Given the description of an element on the screen output the (x, y) to click on. 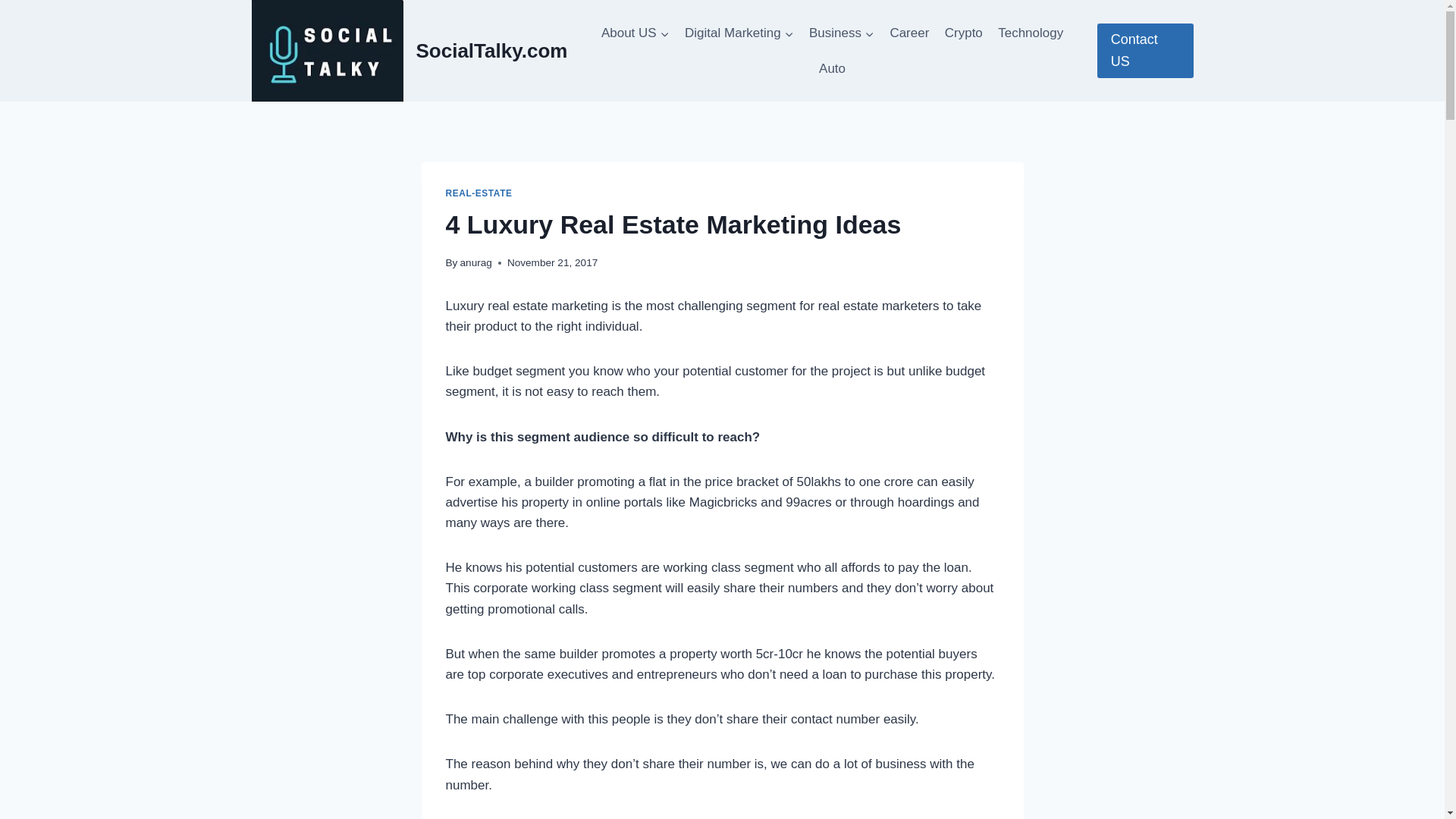
Digital Marketing (739, 33)
REAL-ESTATE (478, 193)
SocialTalky.com (409, 50)
Business (842, 33)
About US (635, 33)
Auto (831, 68)
Technology (1030, 33)
Career (909, 33)
Crypto (963, 33)
Contact US (1145, 50)
